Given the description of an element on the screen output the (x, y) to click on. 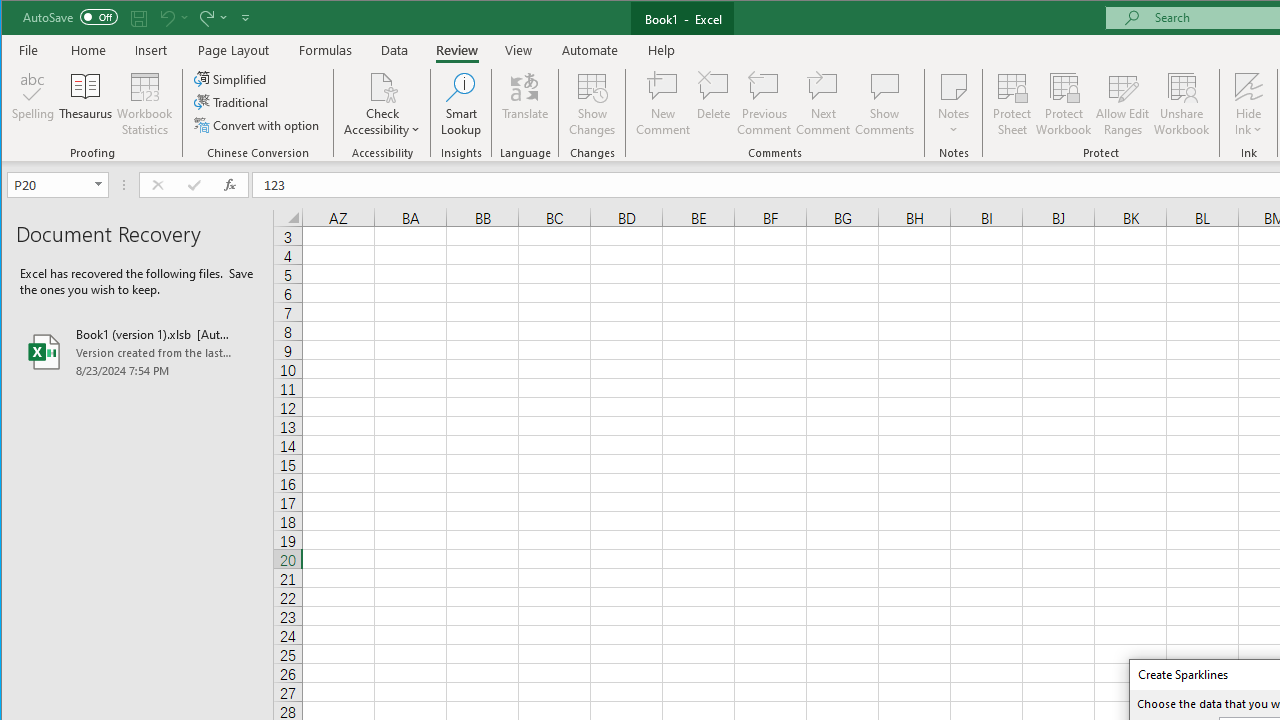
New Comment (662, 104)
Show Comments (884, 104)
Spelling... (33, 104)
Previous Comment (763, 104)
Check Accessibility (381, 86)
Convert with option (258, 124)
Allow Edit Ranges (1123, 104)
Protect Workbook... (1064, 104)
